Given the description of an element on the screen output the (x, y) to click on. 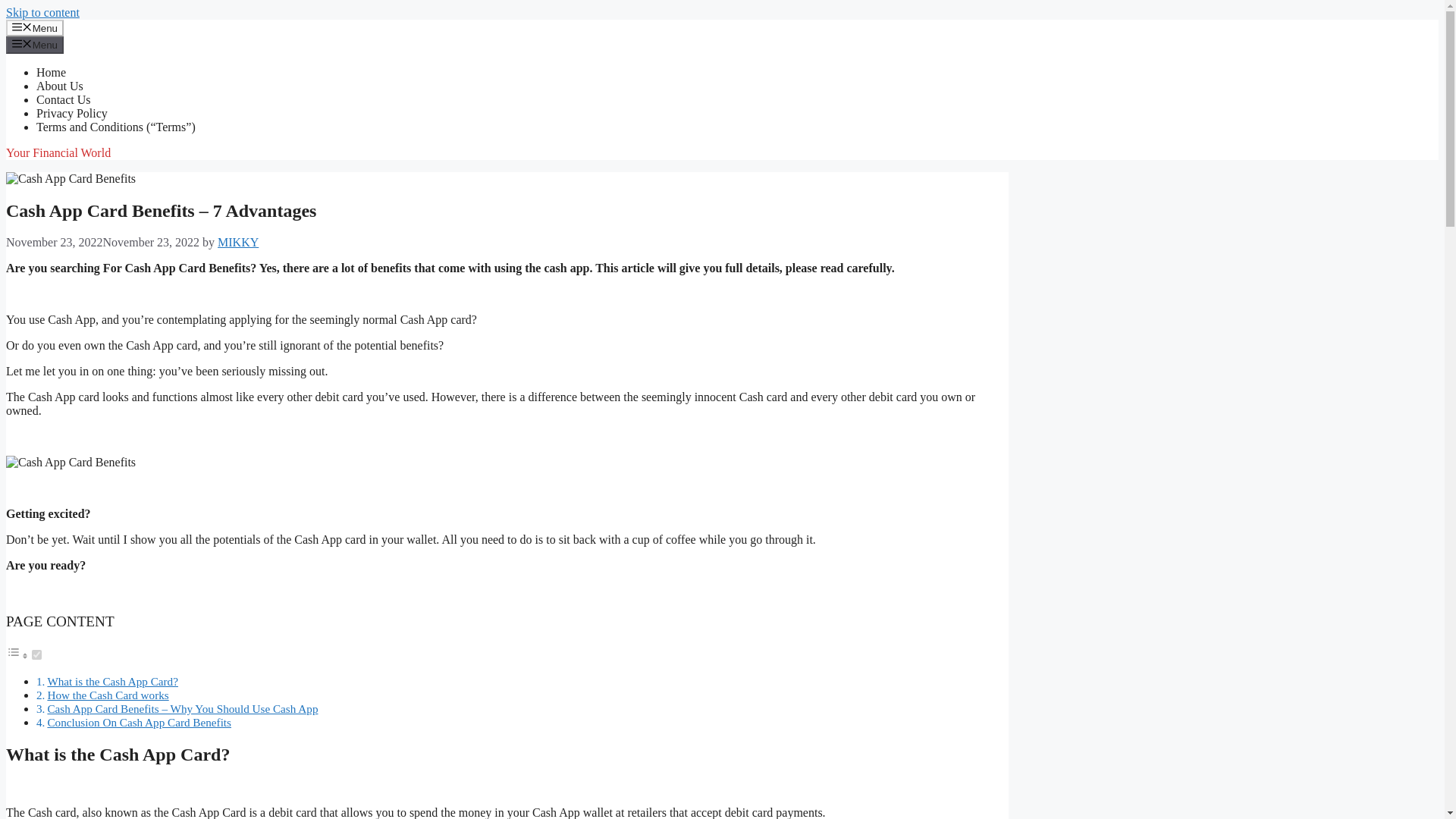
How the Cash Card works (107, 694)
Skip to content (42, 11)
View all posts by MIKKY (237, 241)
Contact Us (63, 99)
Home (50, 72)
MIKKY (237, 241)
on (37, 655)
About Us (59, 85)
Skip to content (42, 11)
Conclusion On Cash App Card Benefits (138, 721)
